Given the description of an element on the screen output the (x, y) to click on. 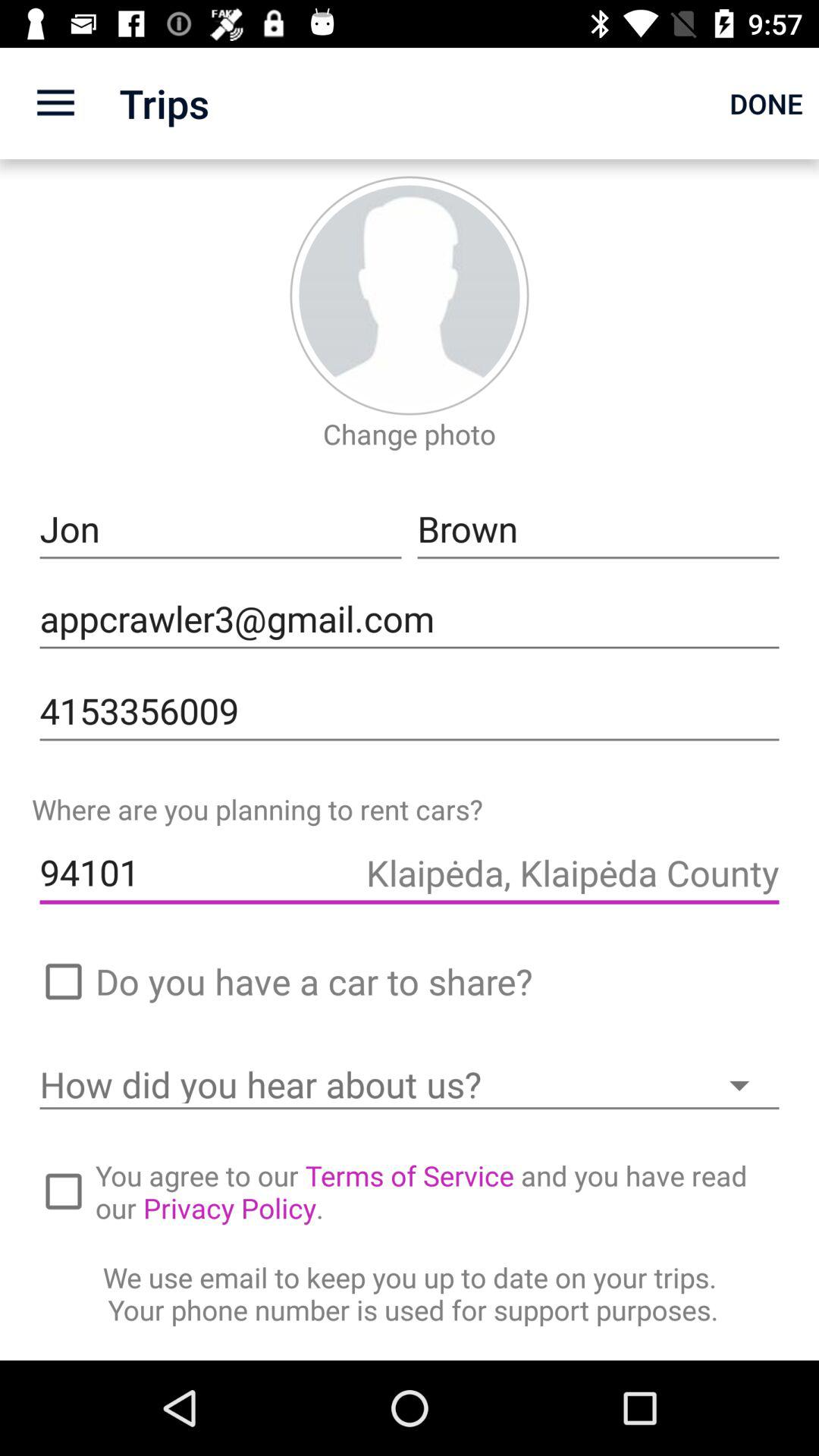
press the brown (598, 529)
